Given the description of an element on the screen output the (x, y) to click on. 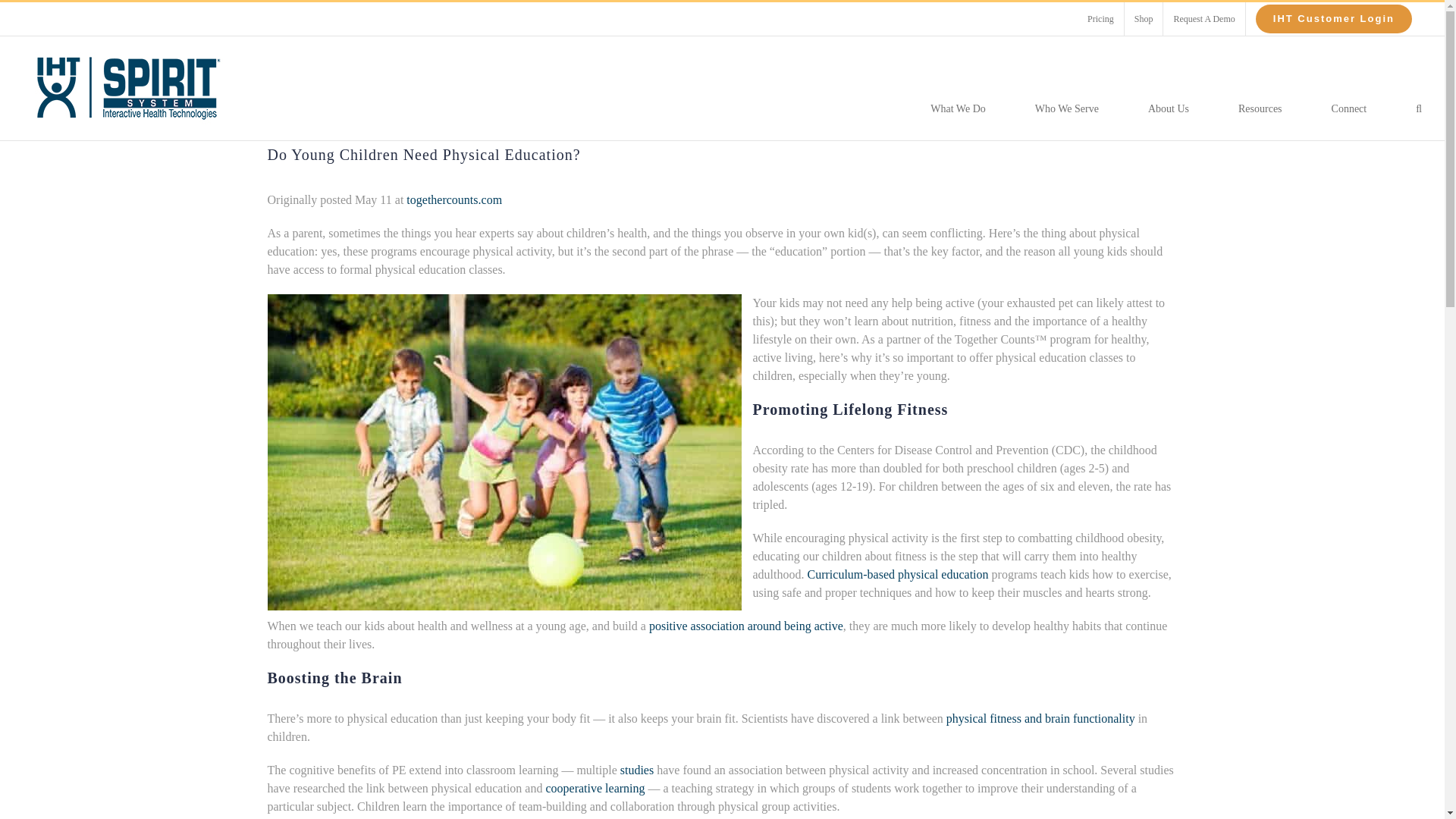
Curriculum-based physical education (897, 574)
Shop (1143, 19)
togethercounts.com (454, 199)
Request A Demo (1203, 19)
Pricing (1100, 19)
positive association around being active (746, 625)
studies (636, 769)
physical fitness and brain functionality (1040, 717)
IHT Customer Login (1334, 19)
Who We Serve (1067, 107)
